Given the description of an element on the screen output the (x, y) to click on. 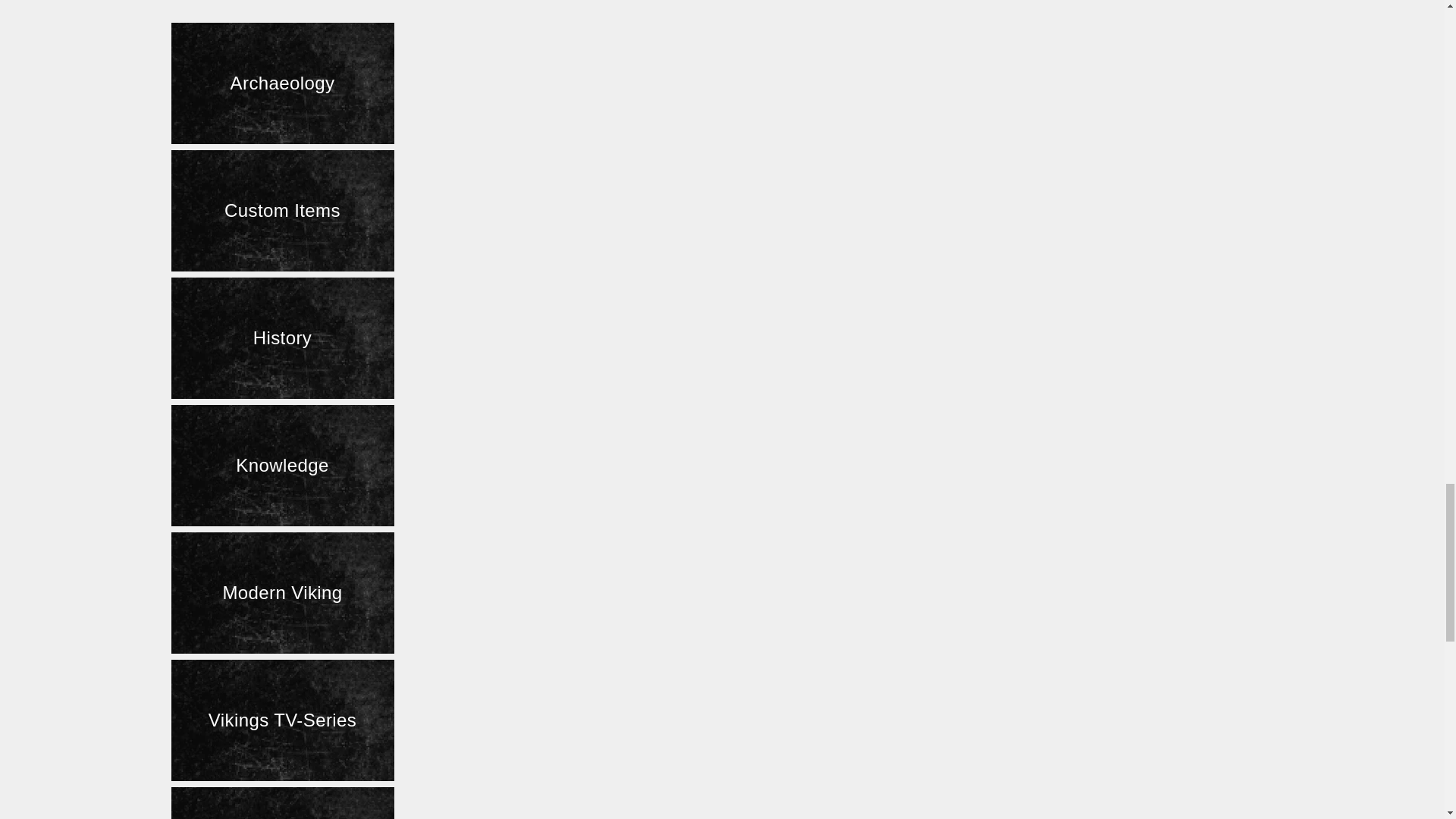
Show articles tagged Archaeology (282, 83)
Show articles tagged Knowledge (282, 465)
Show articles tagged Custom Items (282, 210)
Show articles tagged Vikings TV-Series (282, 720)
Show articles tagged Modern Viking (282, 592)
Show articles tagged Visiting the Viking Age (282, 803)
Show articles tagged History (282, 337)
